Given the description of an element on the screen output the (x, y) to click on. 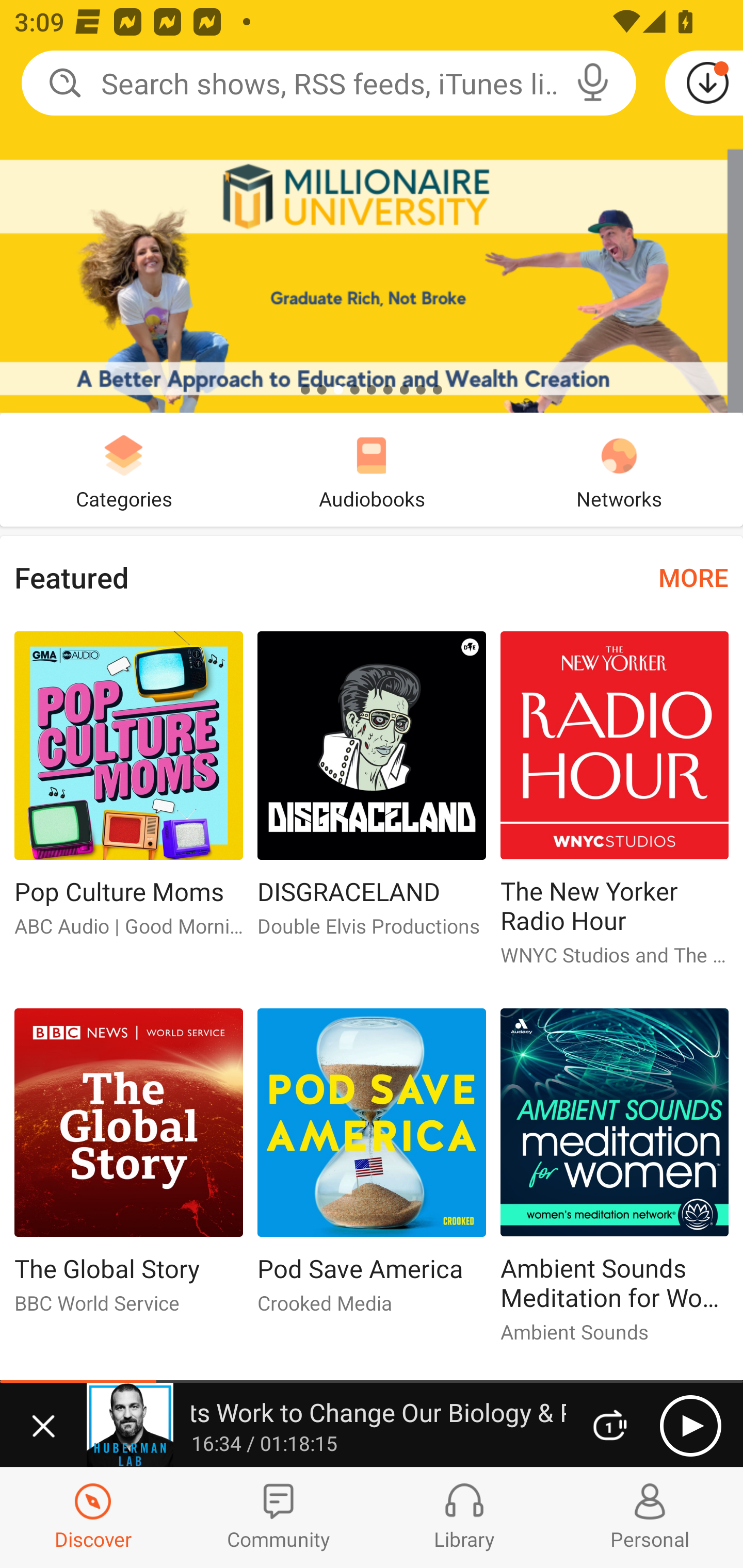
Millionaire University (371, 206)
Categories (123, 469)
Audiobooks (371, 469)
Networks (619, 469)
MORE (693, 576)
DISGRACELAND DISGRACELAND Double Elvis Productions (371, 792)
Pod Save America Pod Save America Crooked Media (371, 1169)
Play (690, 1425)
Discover (92, 1517)
Community (278, 1517)
Library (464, 1517)
Profiles and Settings Personal (650, 1517)
